Given the description of an element on the screen output the (x, y) to click on. 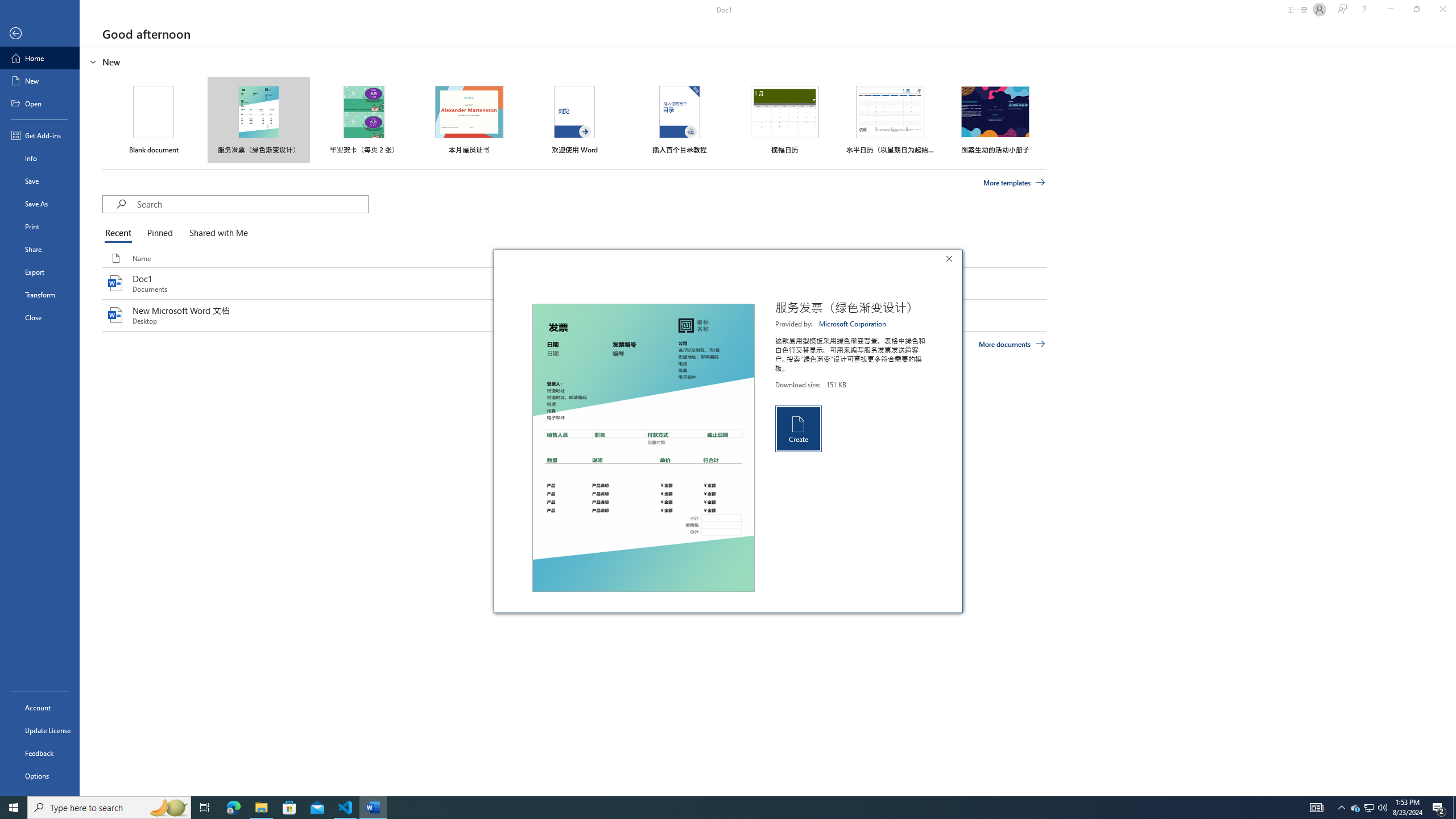
Options (40, 775)
AutomationID: 4105 (1316, 807)
Minimize (1390, 9)
Export (40, 271)
Share (40, 248)
Transform (40, 294)
Print (40, 225)
Class: NetUIScrollBar (1450, 421)
